Given the description of an element on the screen output the (x, y) to click on. 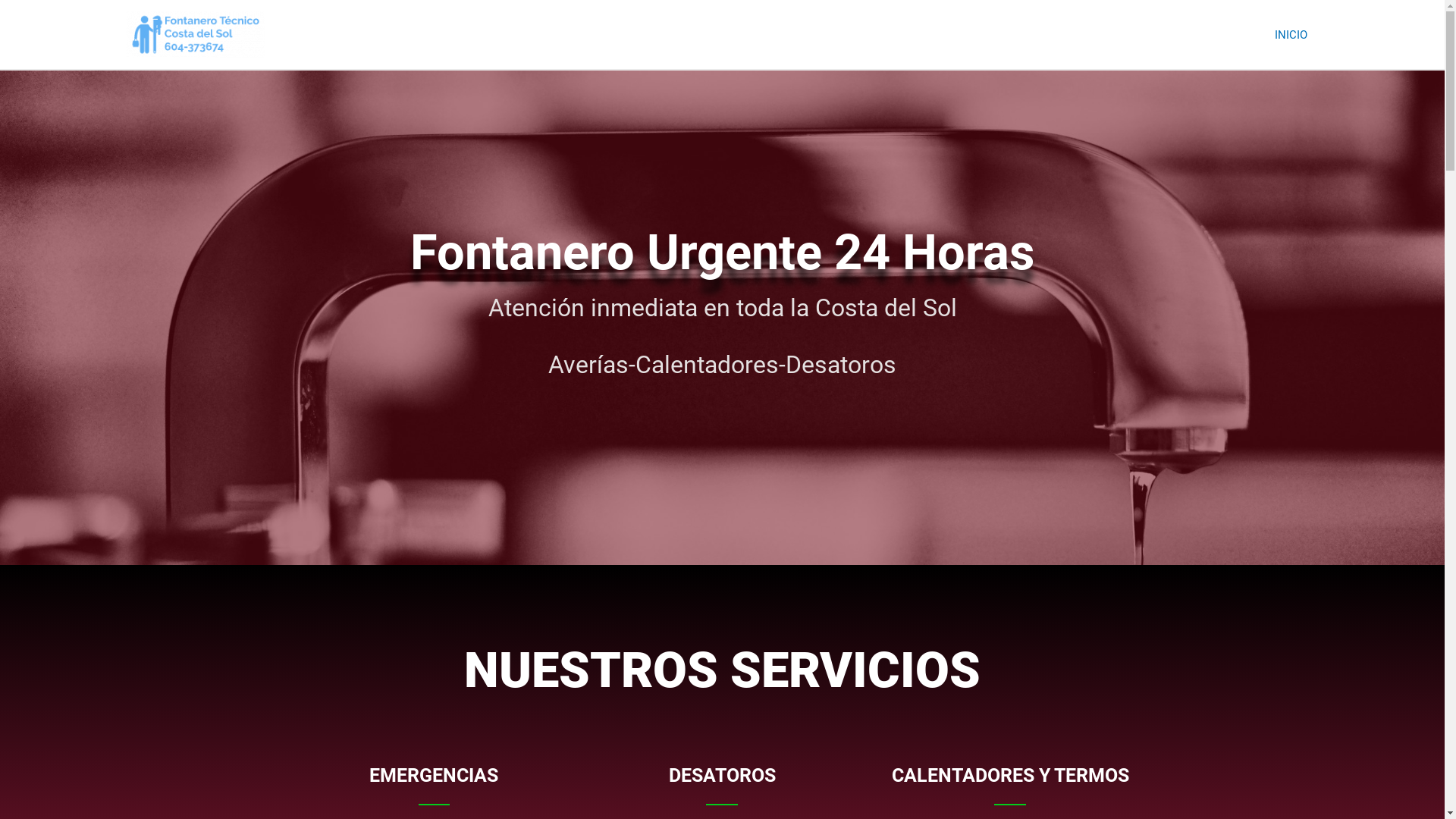
INICIO Element type: text (1290, 33)
